Given the description of an element on the screen output the (x, y) to click on. 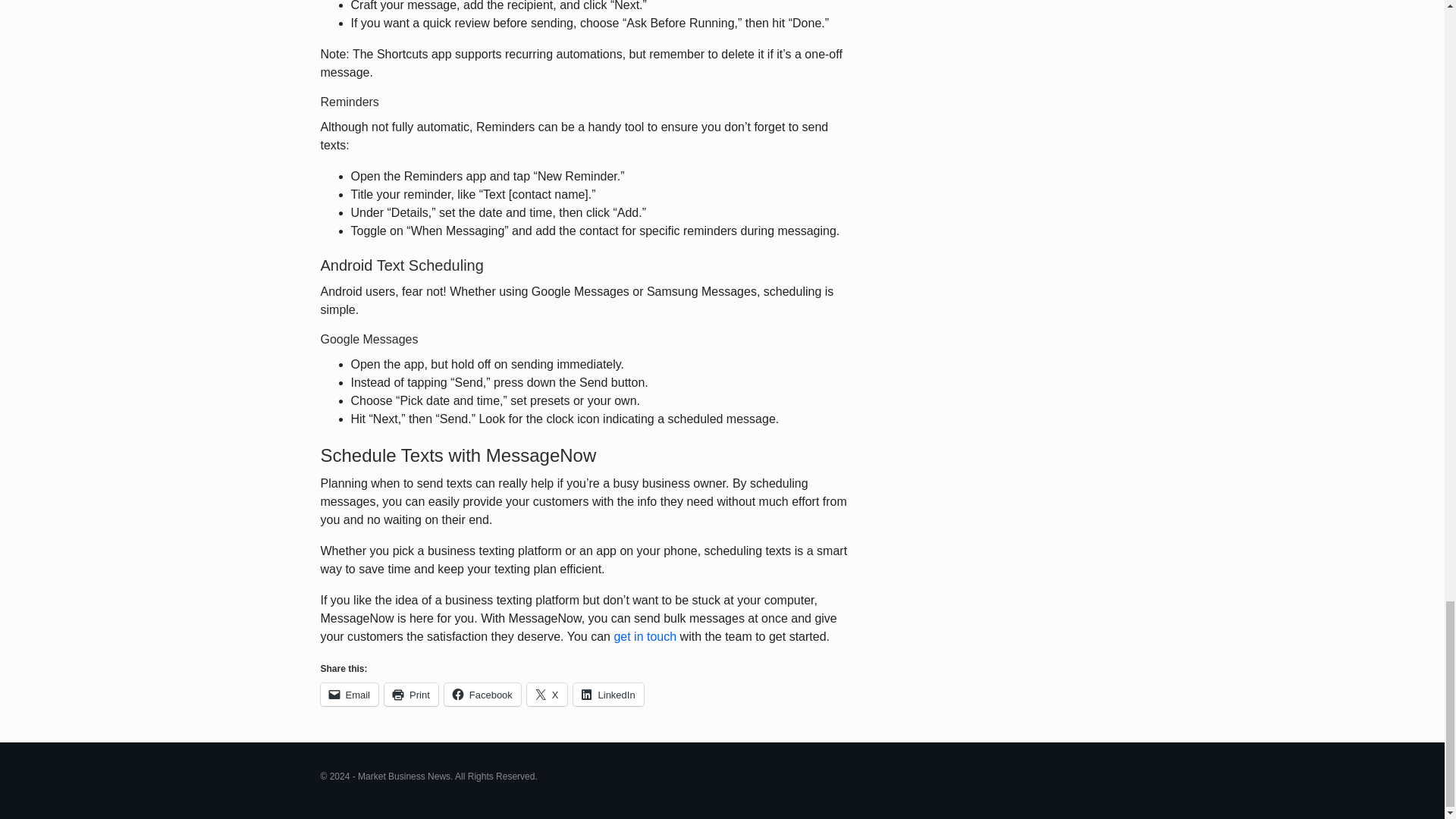
get in touch (644, 635)
Facebook (482, 694)
Click to share on X (547, 694)
X (547, 694)
LinkedIn (608, 694)
Click to print (411, 694)
Email (349, 694)
Click to share on LinkedIn (608, 694)
Click to email a link to a friend (349, 694)
Print (411, 694)
